Given the description of an element on the screen output the (x, y) to click on. 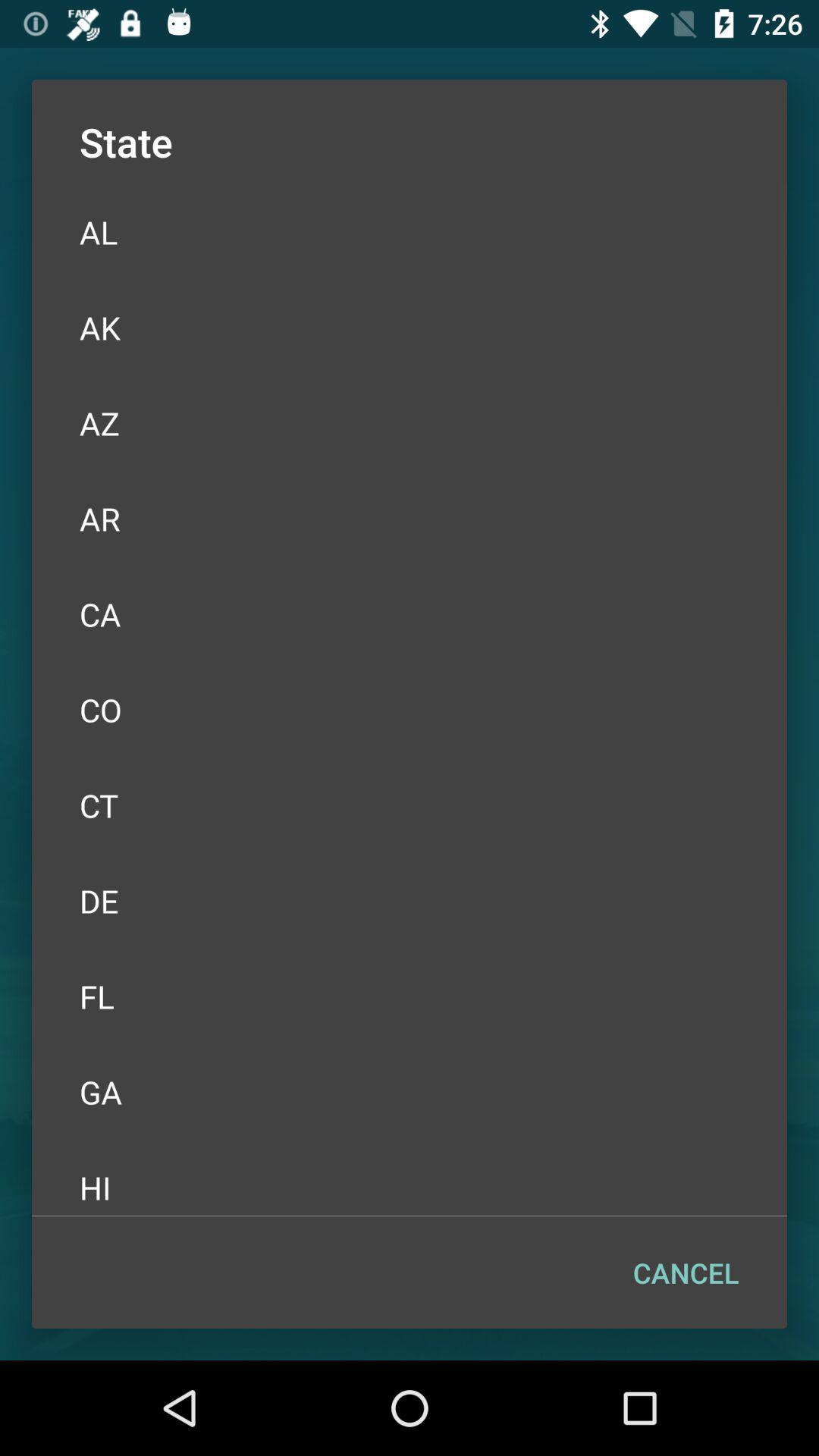
select the ga (409, 1091)
